Given the description of an element on the screen output the (x, y) to click on. 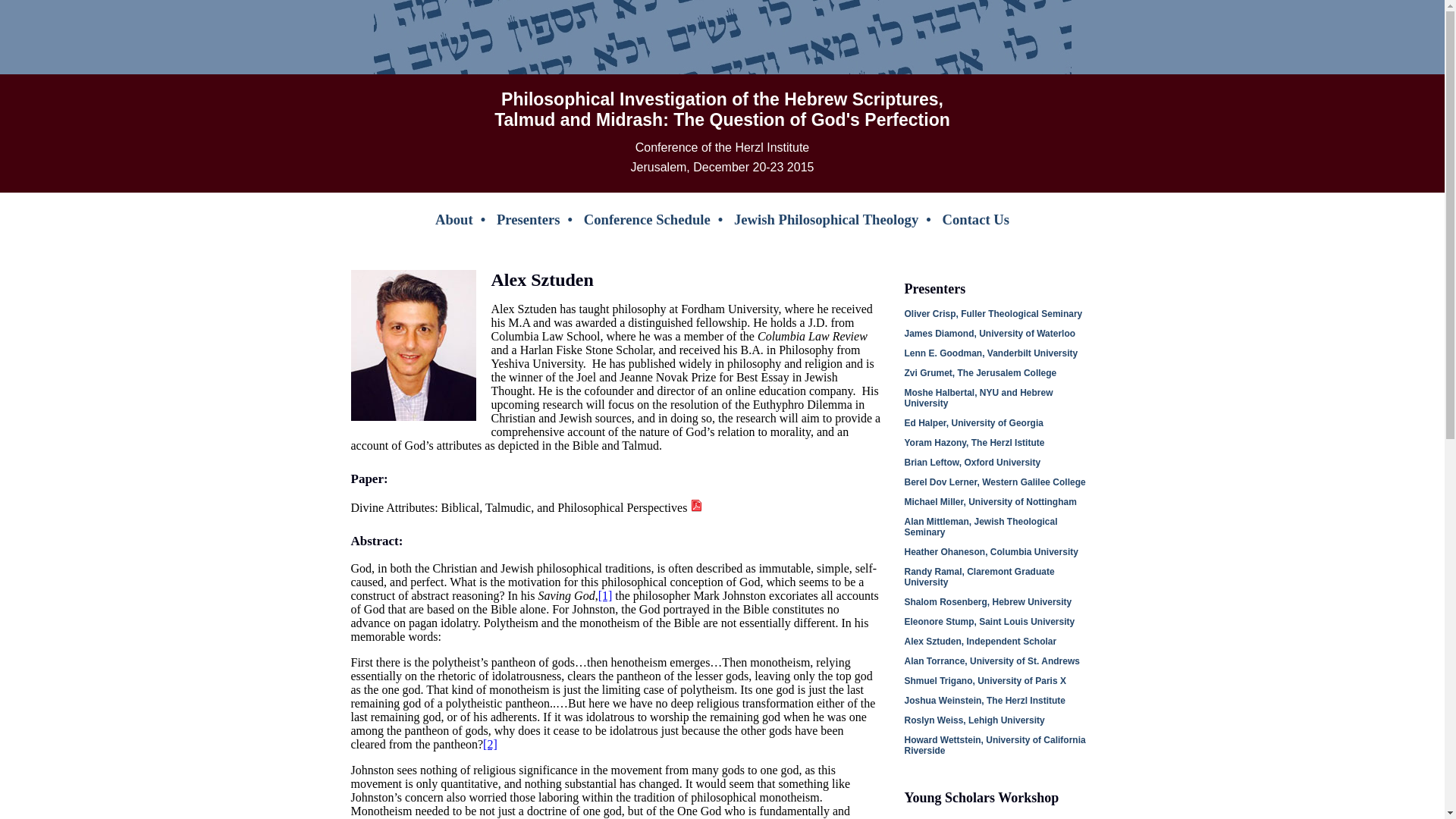
Randy Ramal, Claremont Graduate University (979, 577)
Berel Dov Lerner, Western Galilee College (994, 481)
About (454, 219)
Oliver Crisp, Fuller Theological Seminary (992, 313)
Moshe Halbertal, NYU and Hebrew University (978, 397)
Alex Sztuden, Independent Scholar (980, 641)
Brian Leftow, Oxford University (972, 462)
Roslyn Weiss, Lehigh University (973, 719)
Presenters (528, 219)
Lenn E. Goodman, Vanderbilt University (990, 353)
